Given the description of an element on the screen output the (x, y) to click on. 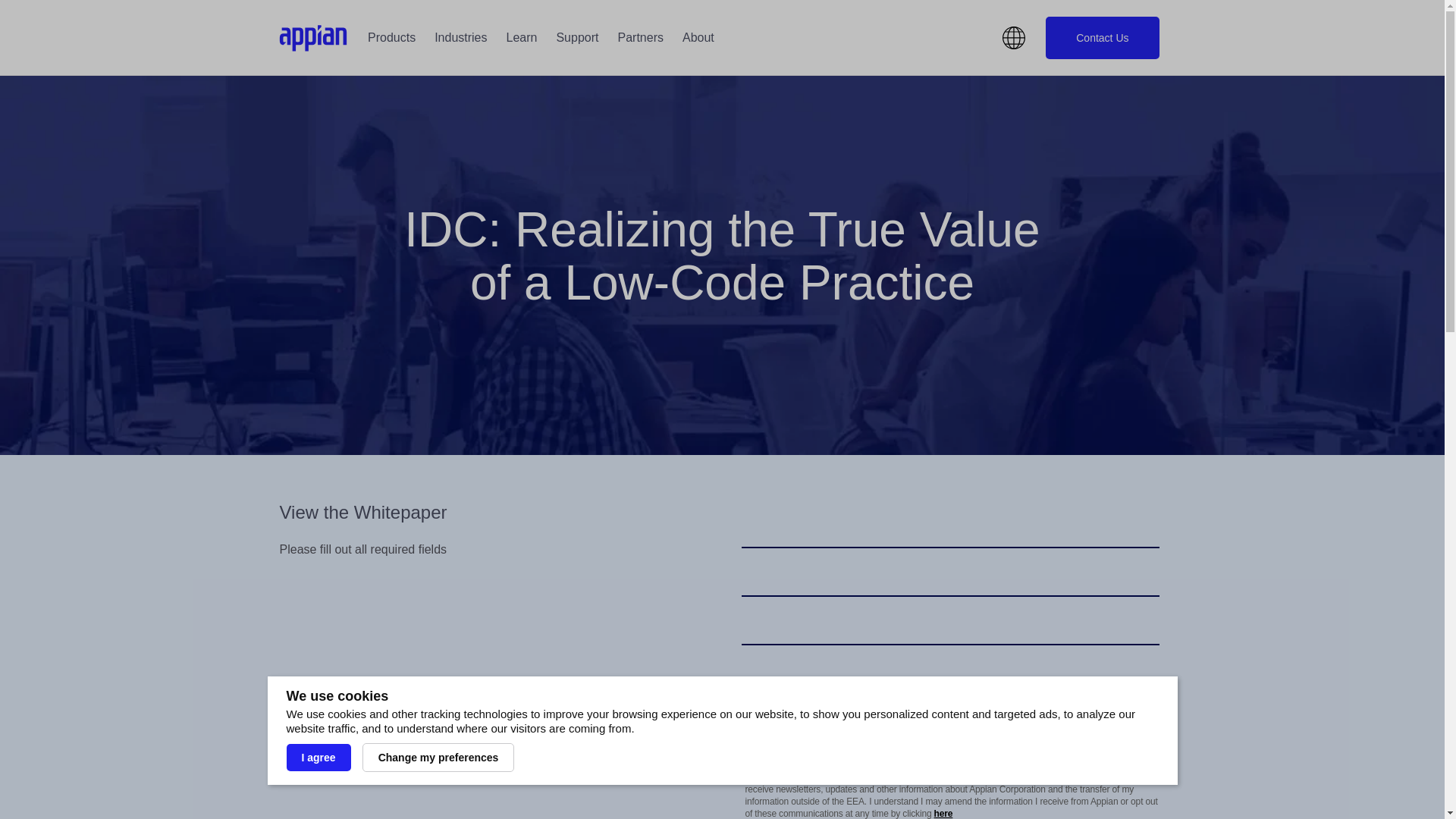
Appian (313, 37)
Products (392, 37)
I agree (318, 757)
Change my preferences (438, 757)
